Given the description of an element on the screen output the (x, y) to click on. 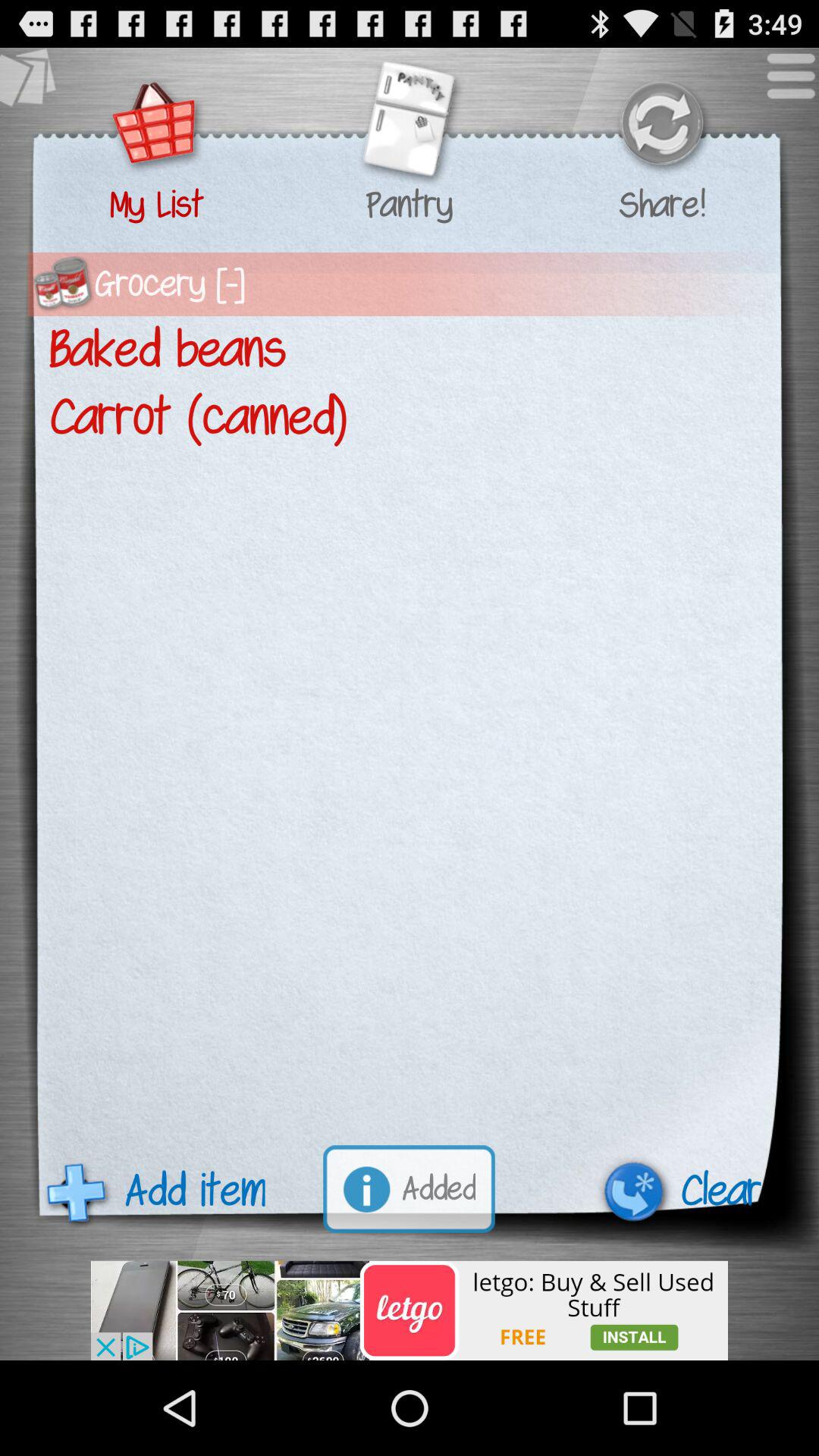
refresh button (661, 125)
